Given the description of an element on the screen output the (x, y) to click on. 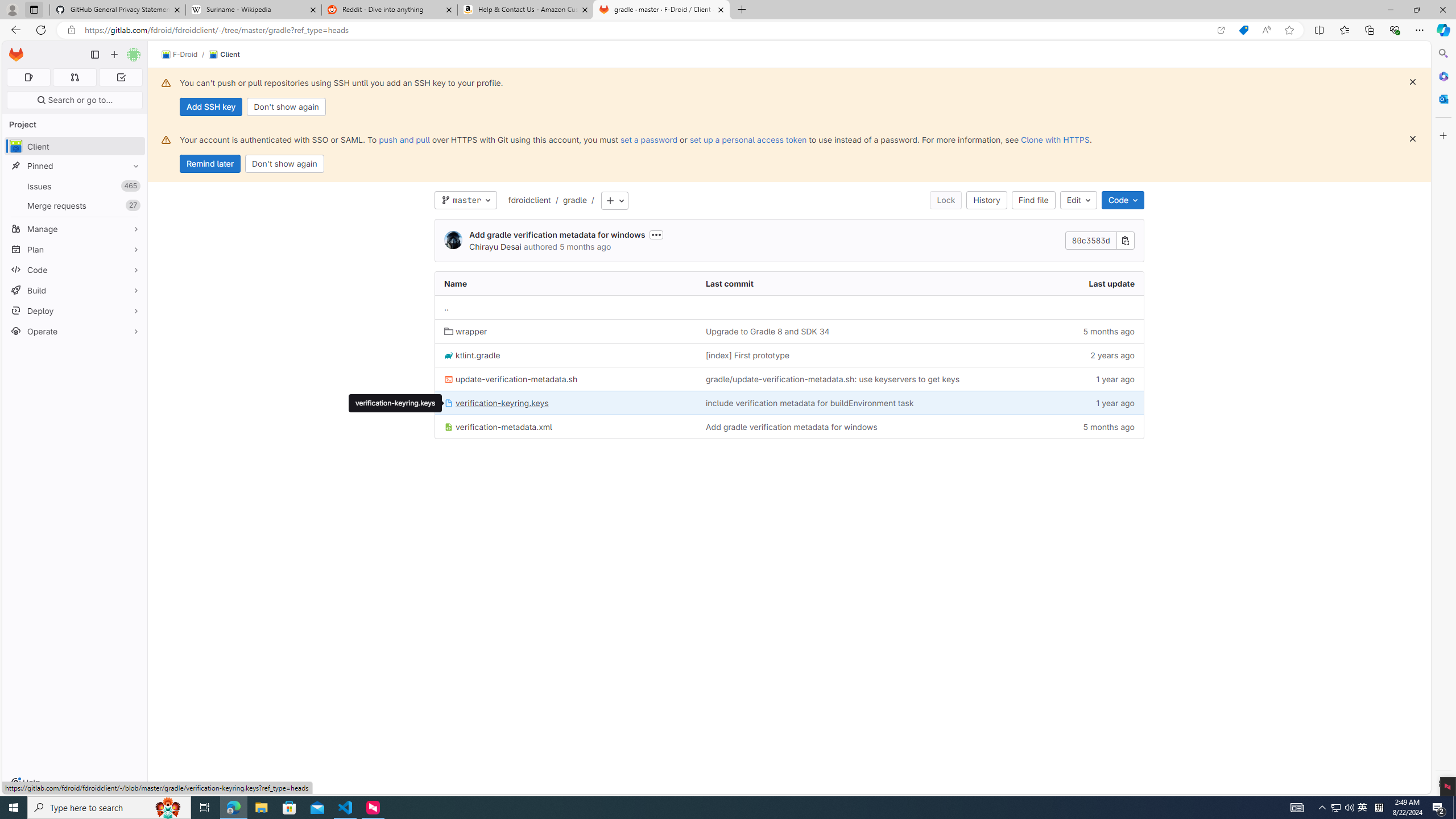
Merge requests 27 (74, 205)
Code (74, 269)
master (465, 199)
include verification metadata for buildEnvironment task (809, 403)
verification-keyring.keys (566, 402)
Remind later (210, 163)
set a password (649, 139)
Plan (74, 248)
verification-keyring.keys (496, 403)
